Given the description of an element on the screen output the (x, y) to click on. 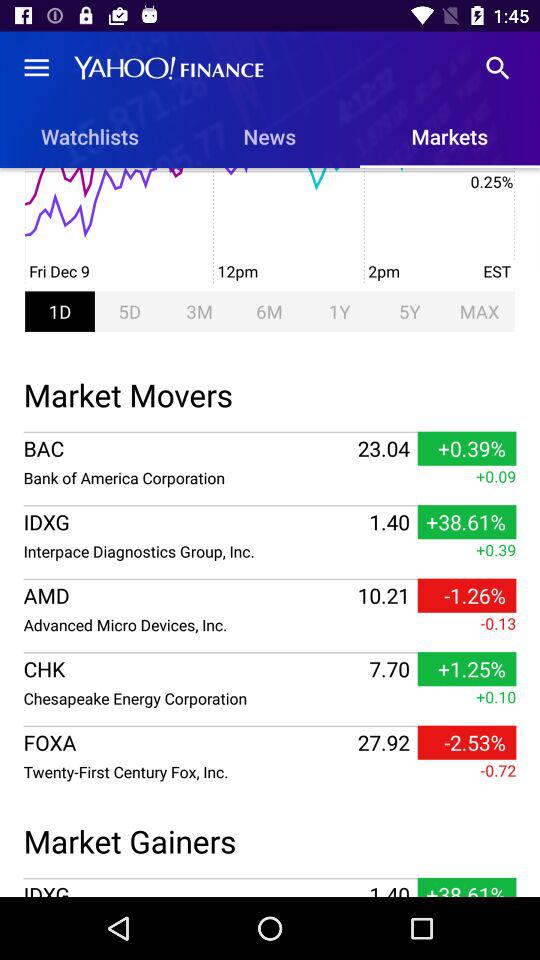
scroll to the max (479, 311)
